Given the description of an element on the screen output the (x, y) to click on. 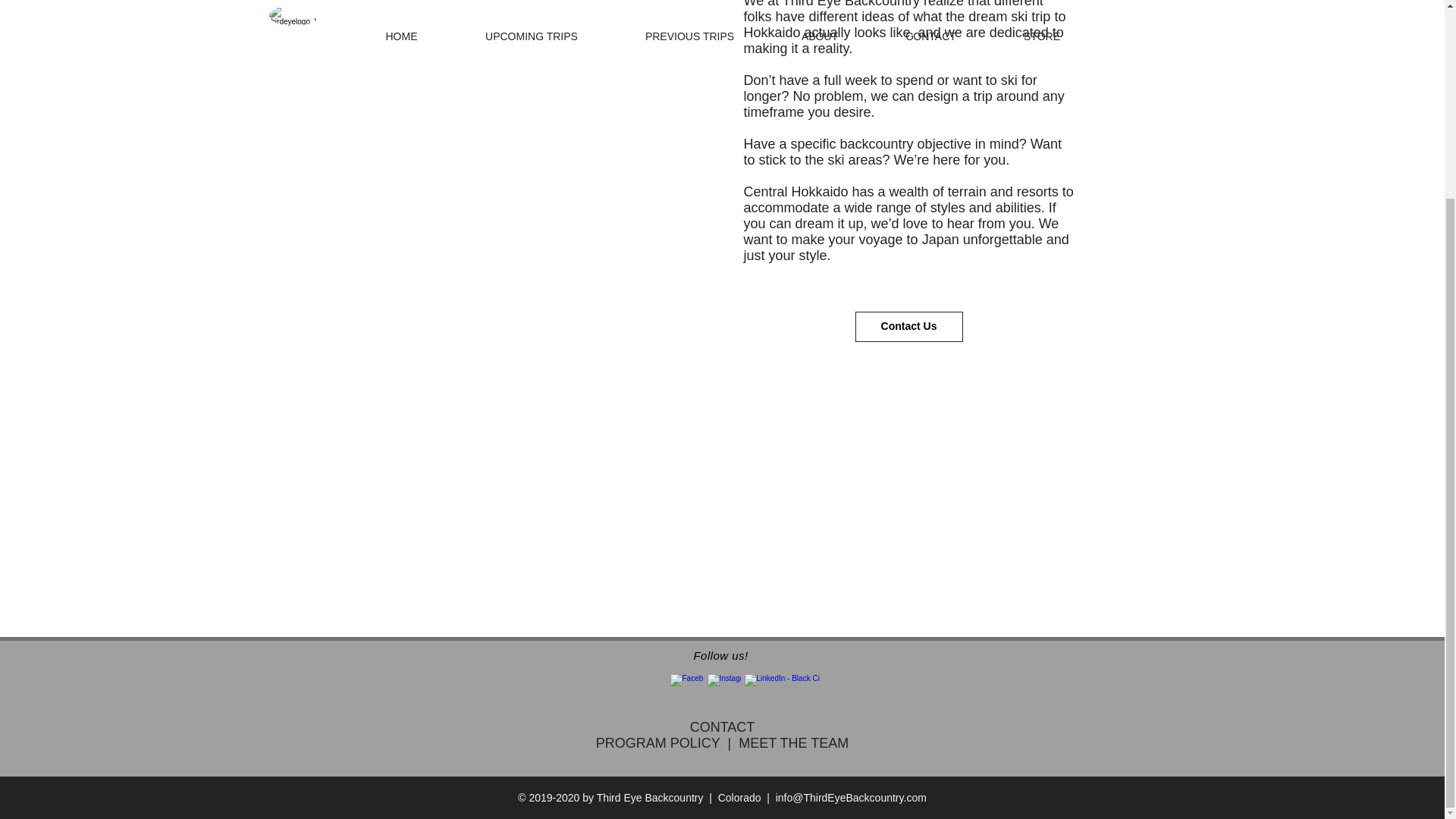
CONTACT (722, 726)
MEET THE TEAM (793, 742)
Contact Us (909, 327)
PROGRAM POLICY (657, 742)
